Given the description of an element on the screen output the (x, y) to click on. 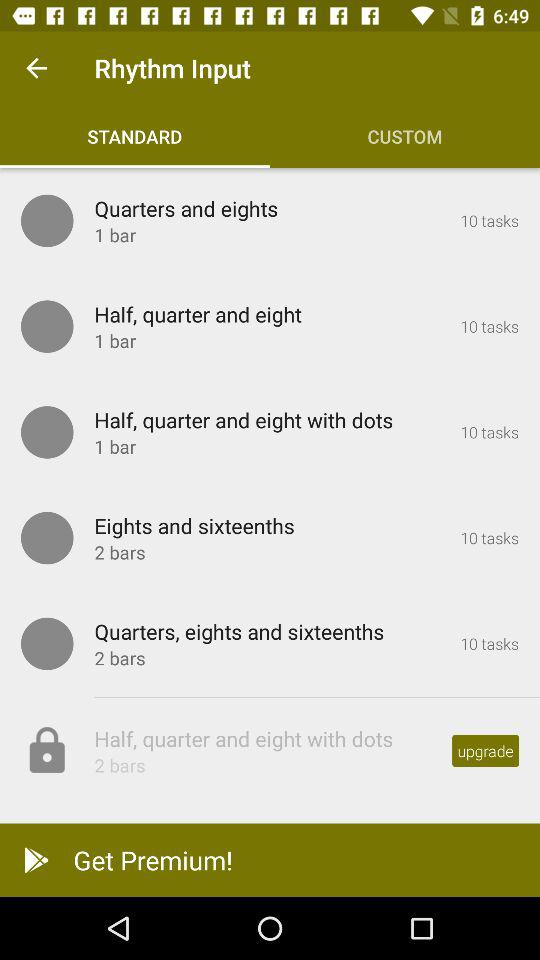
open the get premium! item (270, 859)
